Given the description of an element on the screen output the (x, y) to click on. 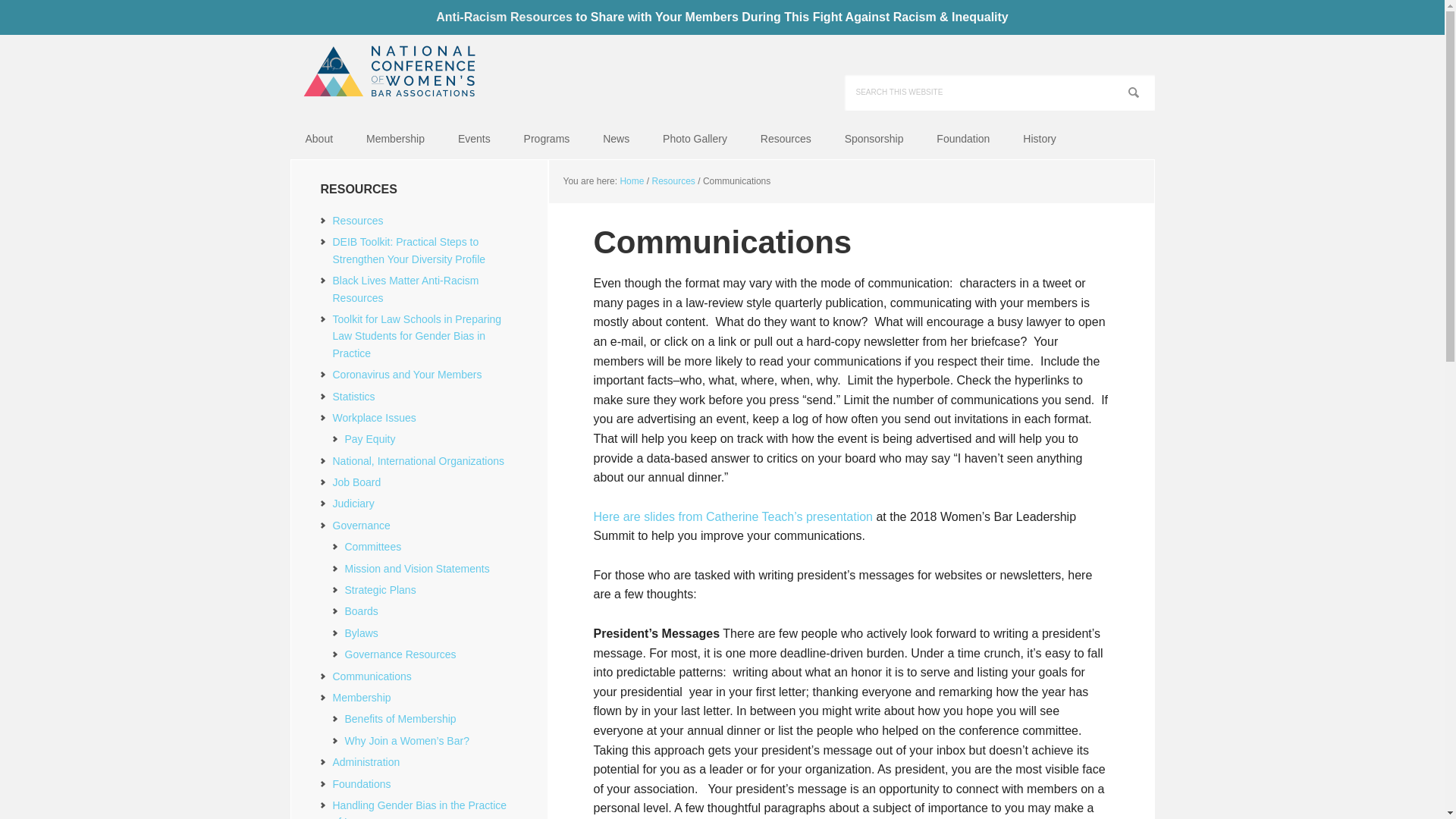
National Conference of Women's Bar Associations (387, 72)
Programs (546, 137)
Events (473, 137)
Anti-Racism Resources (503, 16)
About (318, 137)
Membership (394, 137)
